Given the description of an element on the screen output the (x, y) to click on. 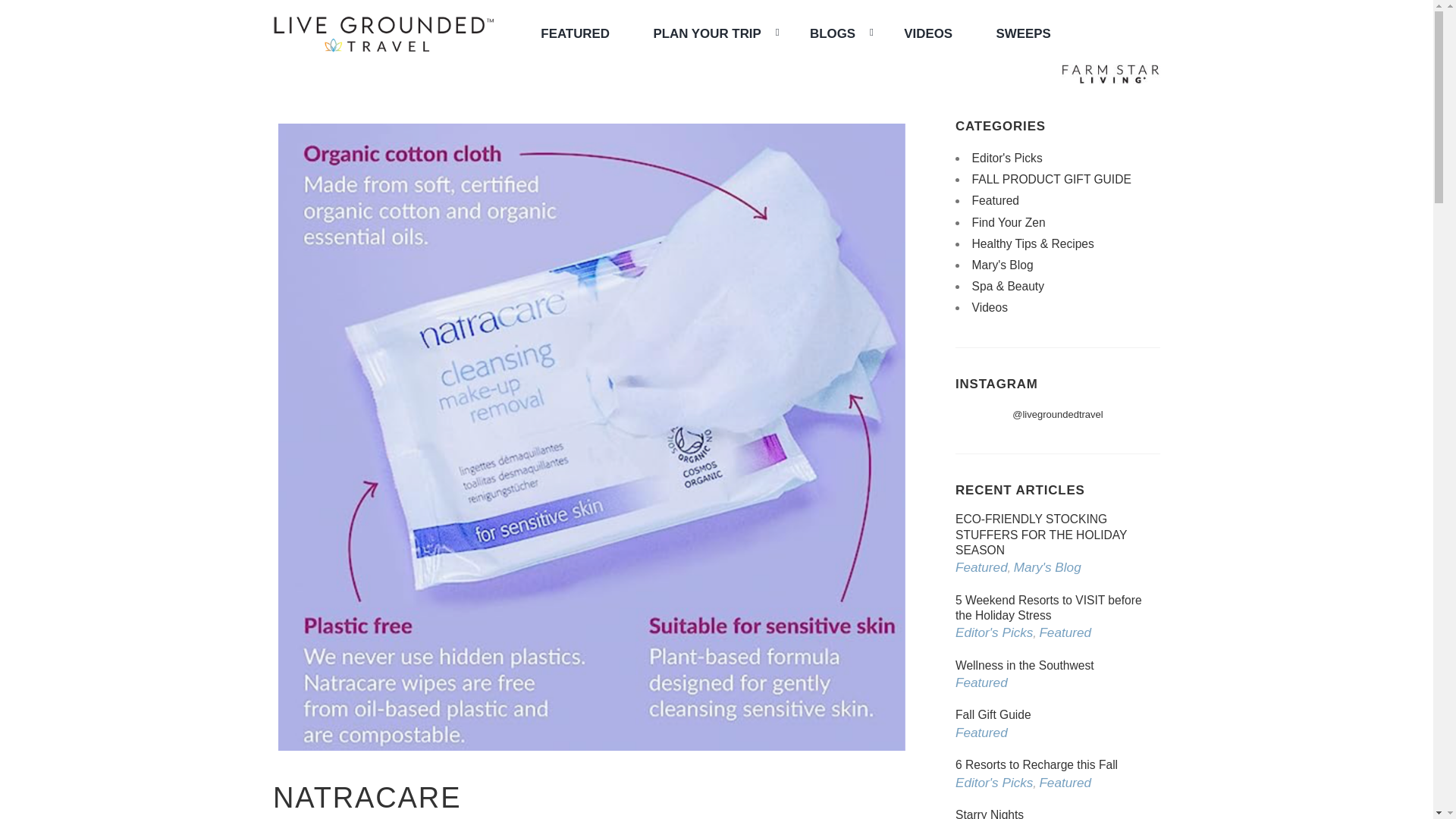
BLOGS (834, 34)
PLAN YOUR TRIP (708, 34)
VIDEOS (927, 34)
FEATURED (574, 34)
SWEEPS (1023, 34)
